Given the description of an element on the screen output the (x, y) to click on. 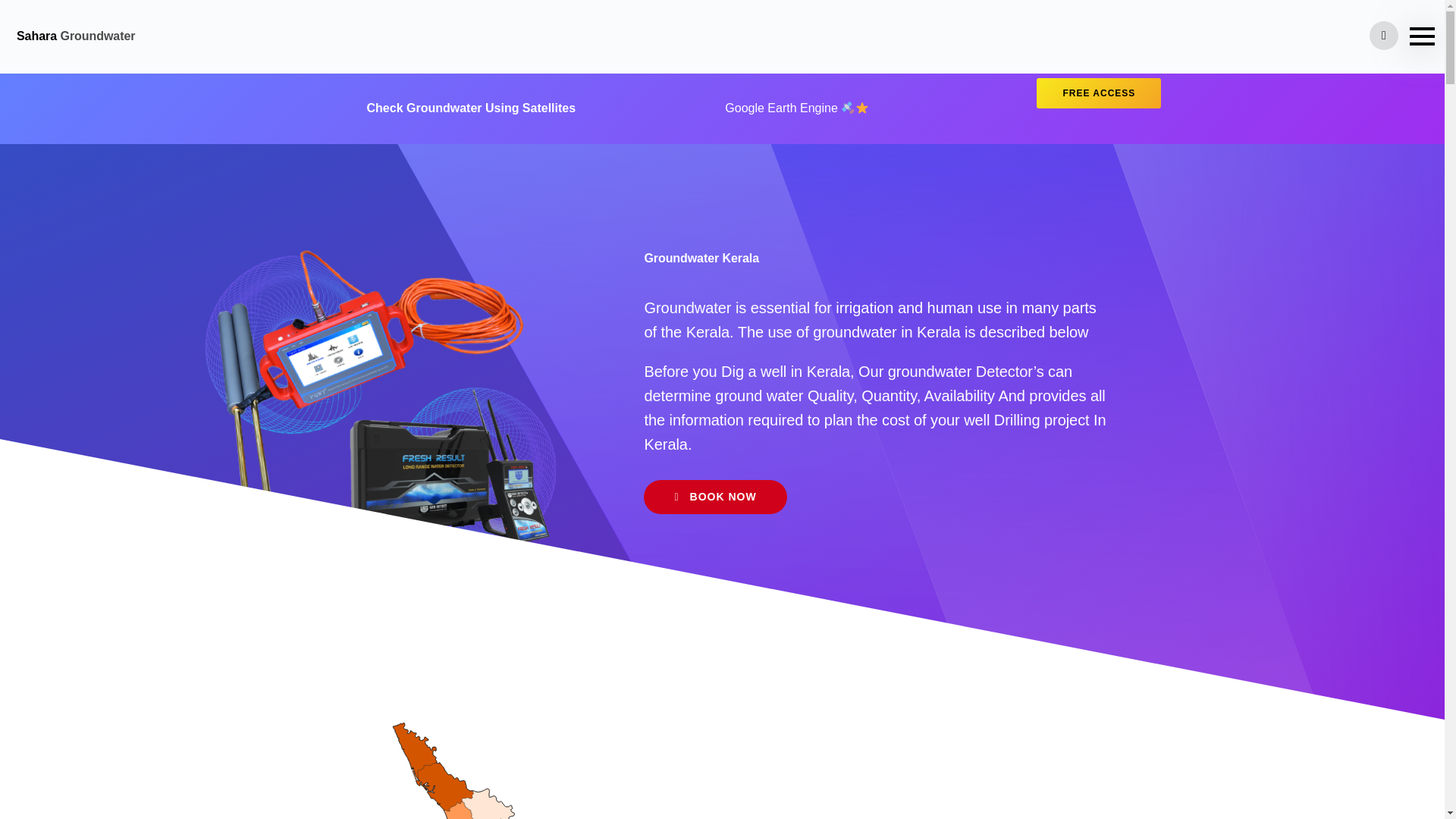
groundwater (930, 371)
Dig a well (753, 371)
BOOK NOW (714, 496)
FREE ACCESS (1098, 92)
Sahara Groundwater (75, 35)
